Given the description of an element on the screen output the (x, y) to click on. 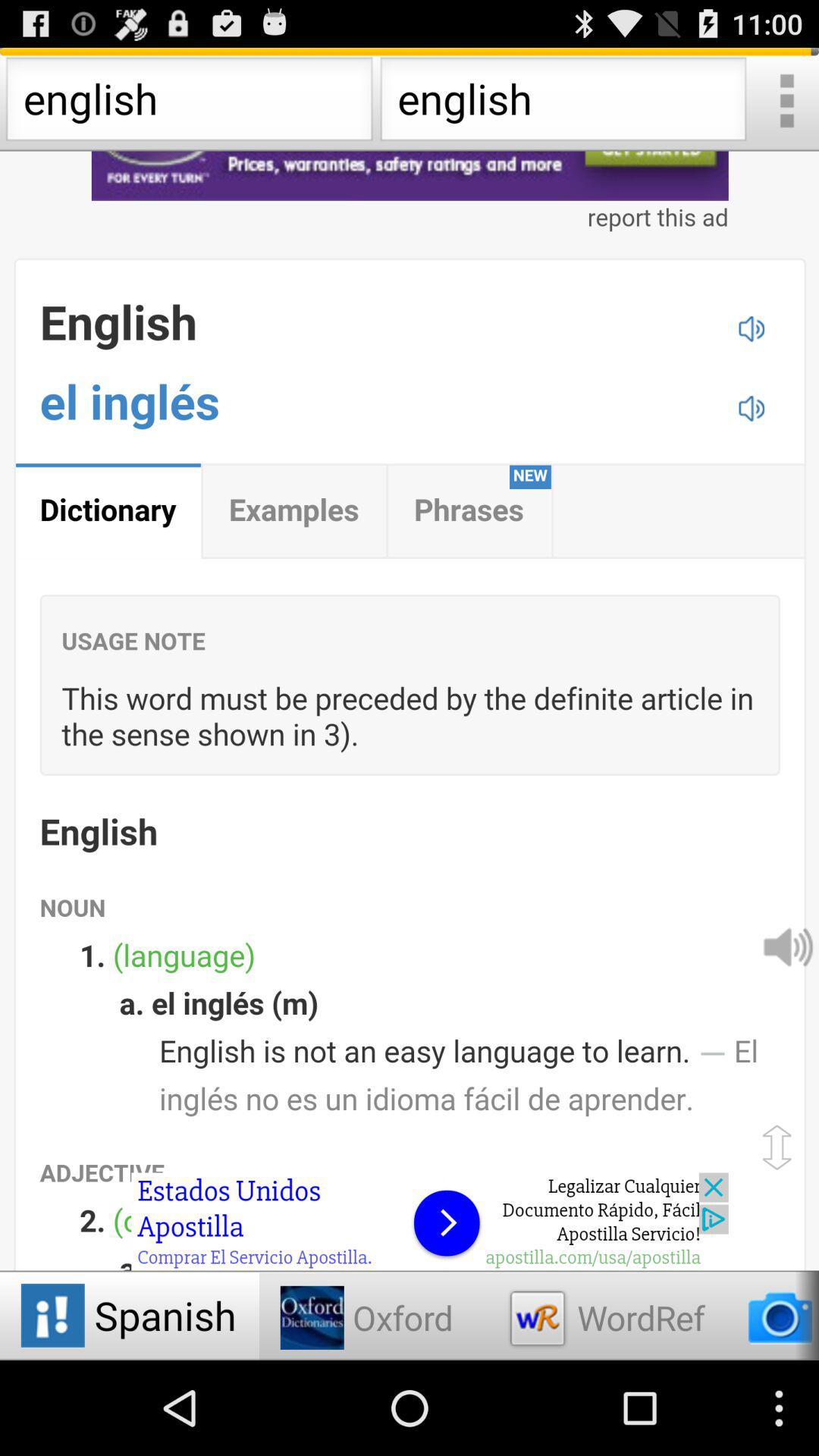
select option (785, 103)
